Given the description of an element on the screen output the (x, y) to click on. 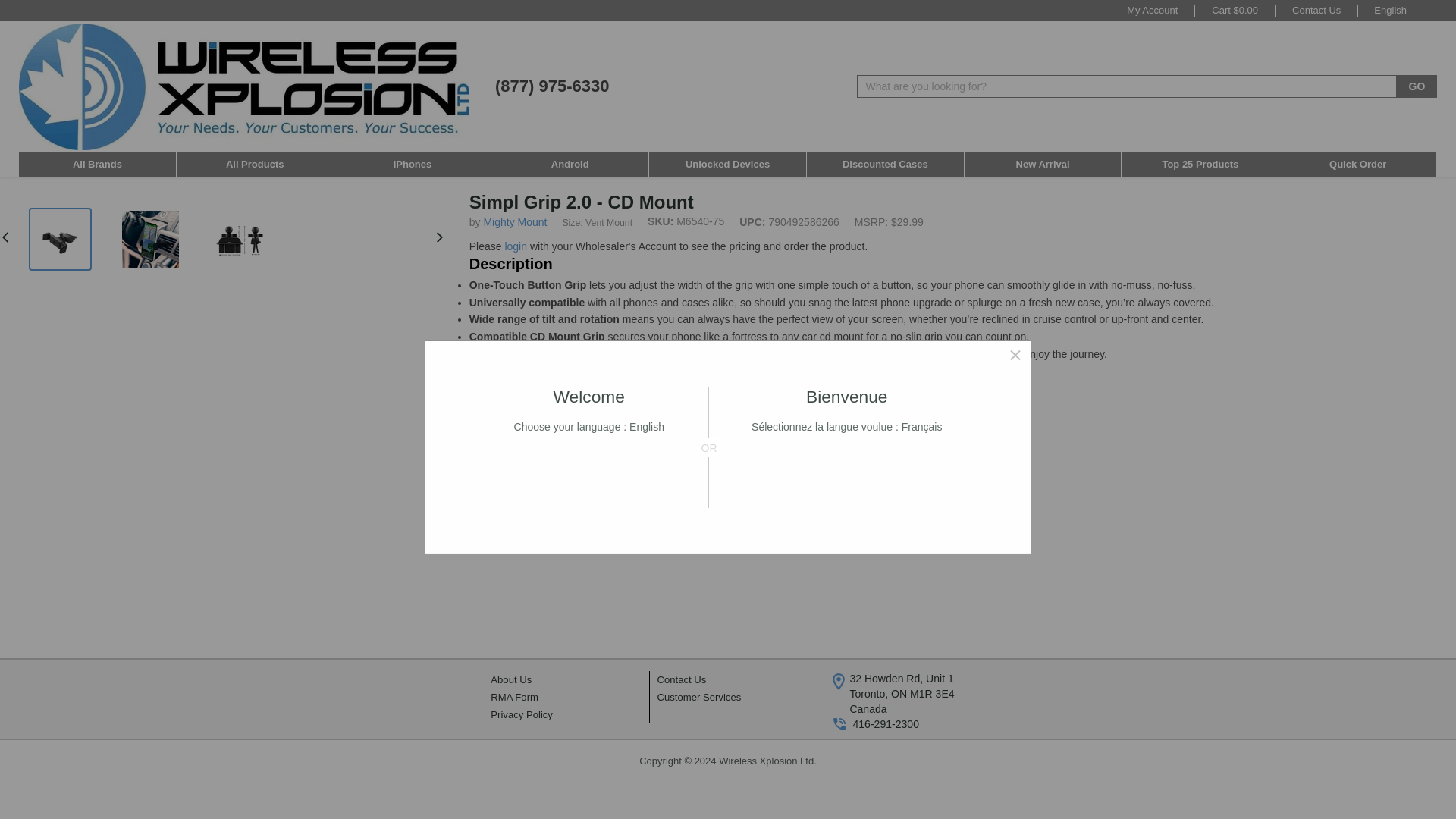
My Account (1152, 9)
GO (1416, 86)
Contact Us (1316, 9)
Mighty Mount (515, 222)
All Products (255, 164)
All Brands (97, 164)
English (1397, 9)
